Given the description of an element on the screen output the (x, y) to click on. 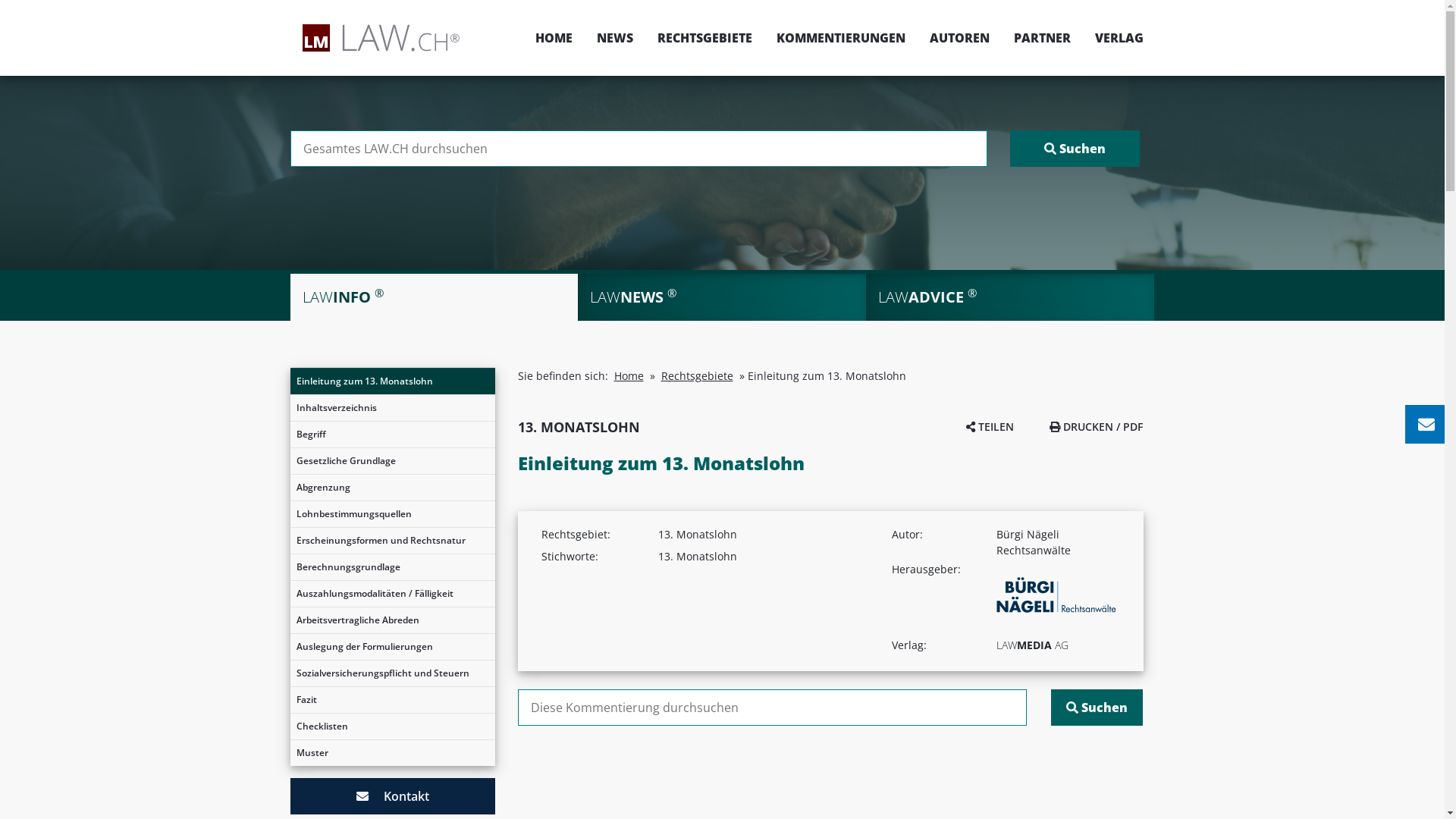
VERLAG Element type: text (1112, 37)
Suchen nach: Element type: hover (637, 148)
Checklisten Element type: text (391, 726)
PARTNER Element type: text (1041, 37)
Abgrenzung Element type: text (391, 487)
KOMMENTIERUNGEN Element type: text (840, 37)
HOME Element type: text (553, 37)
    Kontakt Element type: text (391, 796)
Suchen nach: Element type: hover (771, 707)
Inhaltsverzeichnis Element type: text (391, 407)
 TEILEN Element type: text (989, 426)
Arbeitsvertragliche Abreden Element type: text (391, 620)
Gesetzliche Grundlage Element type: text (391, 460)
Home Element type: text (628, 375)
RECHTSGEBIETE Element type: text (703, 37)
Begriff Element type: text (391, 434)
Berechnungsgrundlage Element type: text (391, 567)
AUTOREN Element type: text (959, 37)
Einleitung zum 13. Monatslohn Element type: text (391, 381)
Rechtsgebiete Element type: text (697, 375)
NEWS Element type: text (613, 37)
Fazit Element type: text (391, 699)
 DRUCKEN / PDF Element type: text (1095, 426)
Muster Element type: text (391, 752)
Erscheinungsformen und Rechtsnatur Element type: text (391, 540)
Lohnbestimmungsquellen Element type: text (391, 514)
Auslegung der Formulierungen Element type: text (391, 646)
Sozialversicherungspflicht und Steuern Element type: text (391, 673)
